Given the description of an element on the screen output the (x, y) to click on. 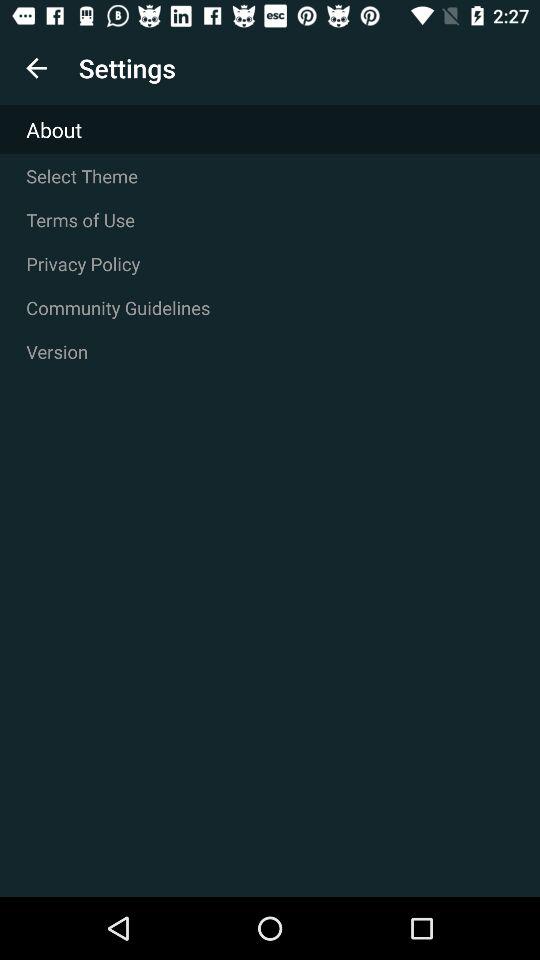
select the about (270, 129)
